Given the description of an element on the screen output the (x, y) to click on. 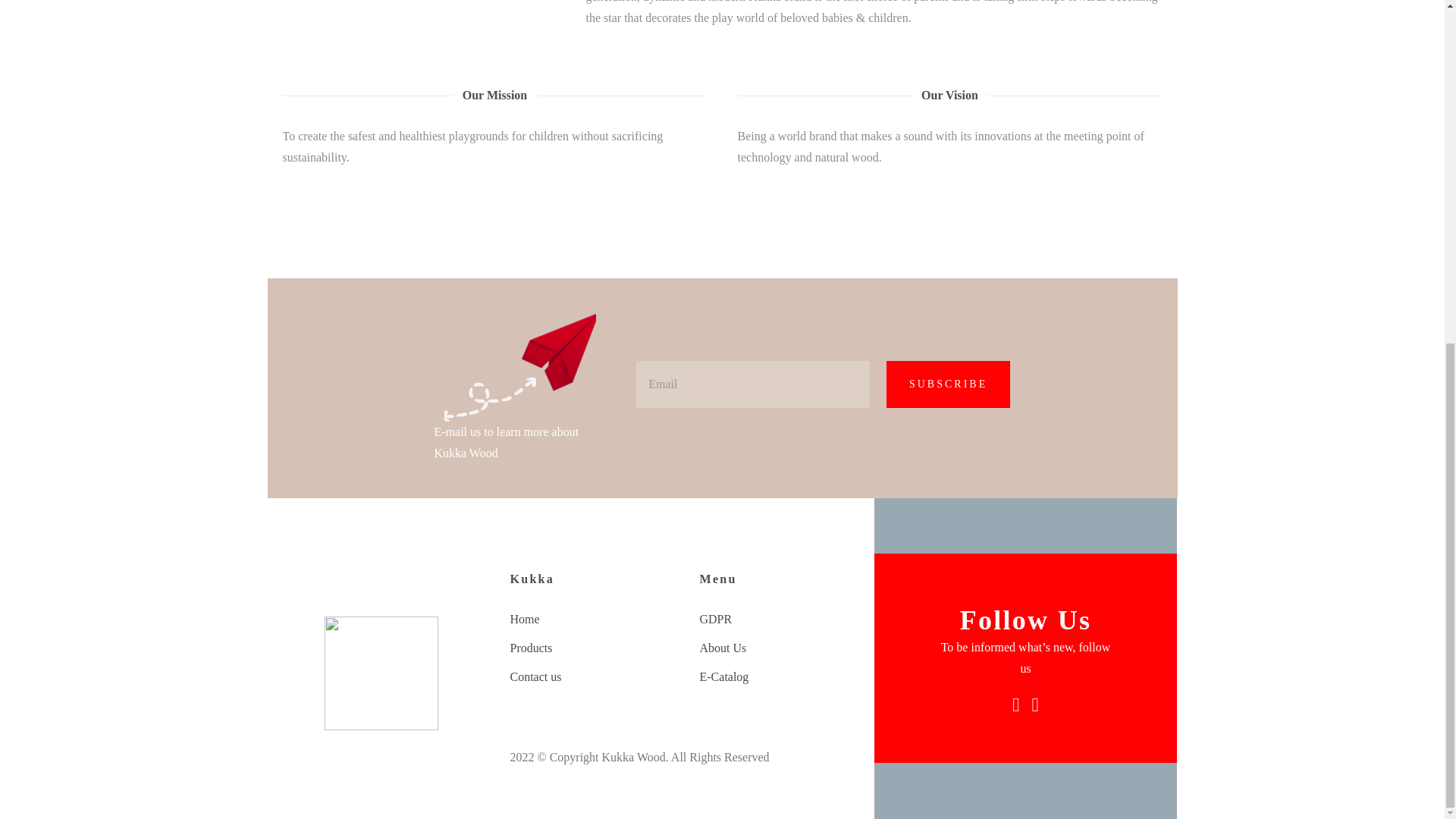
E-Catalog (778, 676)
Subscribe (948, 384)
newsletter-brion (519, 366)
Products (588, 648)
GDPR (778, 619)
Subscribe (948, 384)
Home (588, 619)
About Us (778, 648)
Contact us (588, 676)
